Given the description of an element on the screen output the (x, y) to click on. 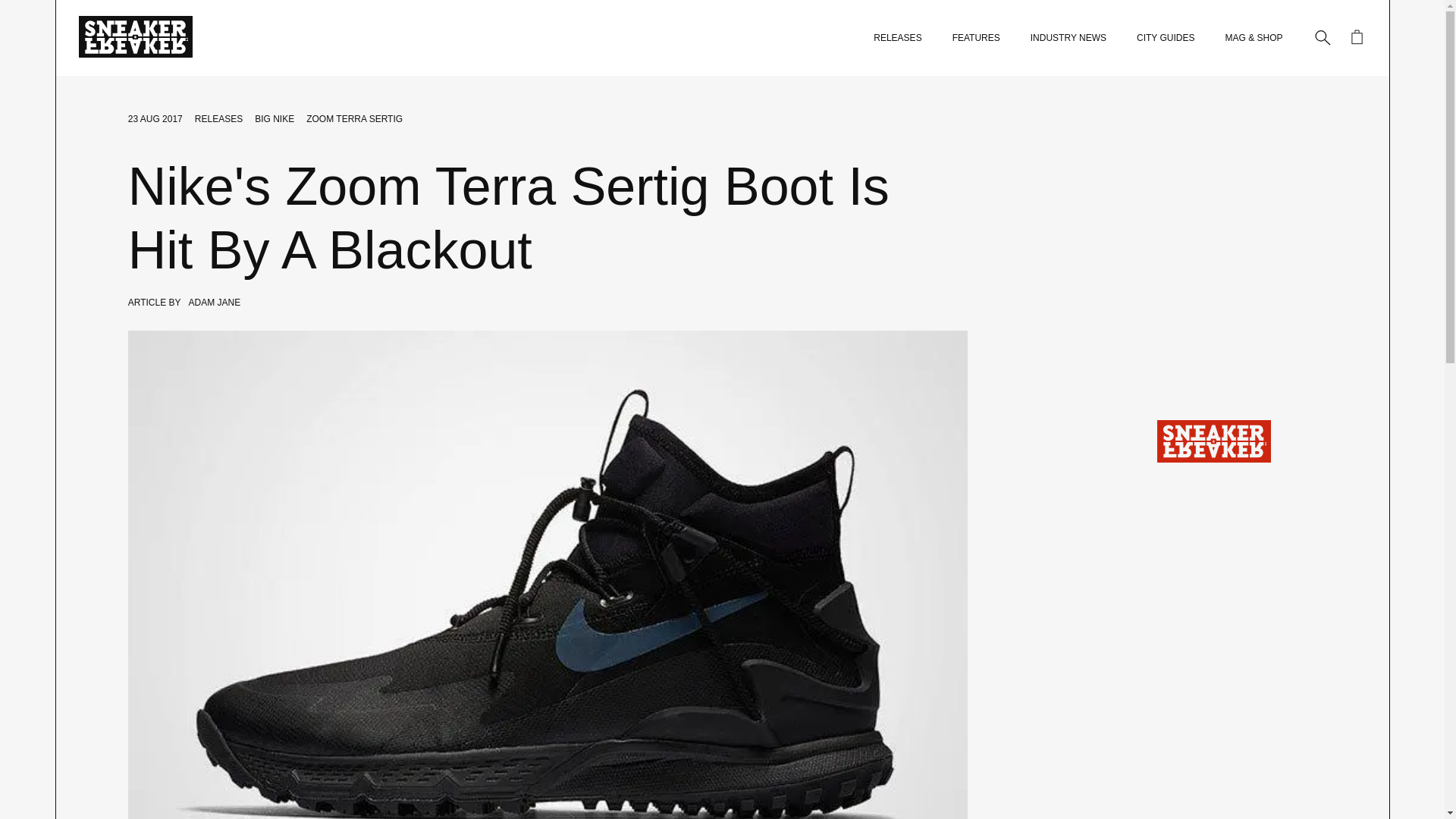
INDUSTRY NEWS (1068, 37)
BIG NIKE (274, 118)
CITY GUIDES (1165, 37)
ZOOM TERRA SERTIG (354, 118)
RELEASES (897, 37)
FEATURES (976, 37)
RELEASES (219, 118)
